Given the description of an element on the screen output the (x, y) to click on. 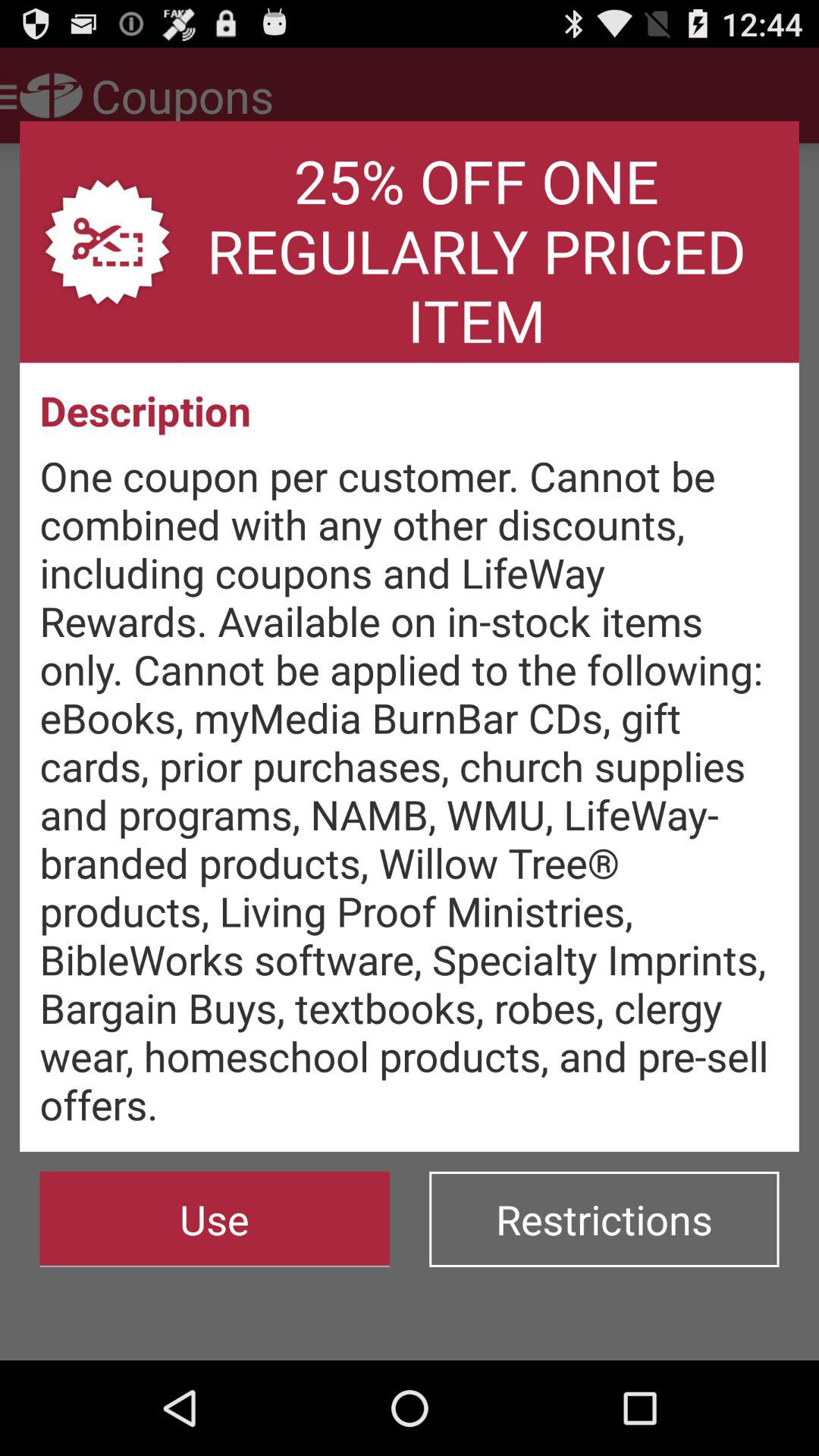
turn on restrictions icon (604, 1219)
